Given the description of an element on the screen output the (x, y) to click on. 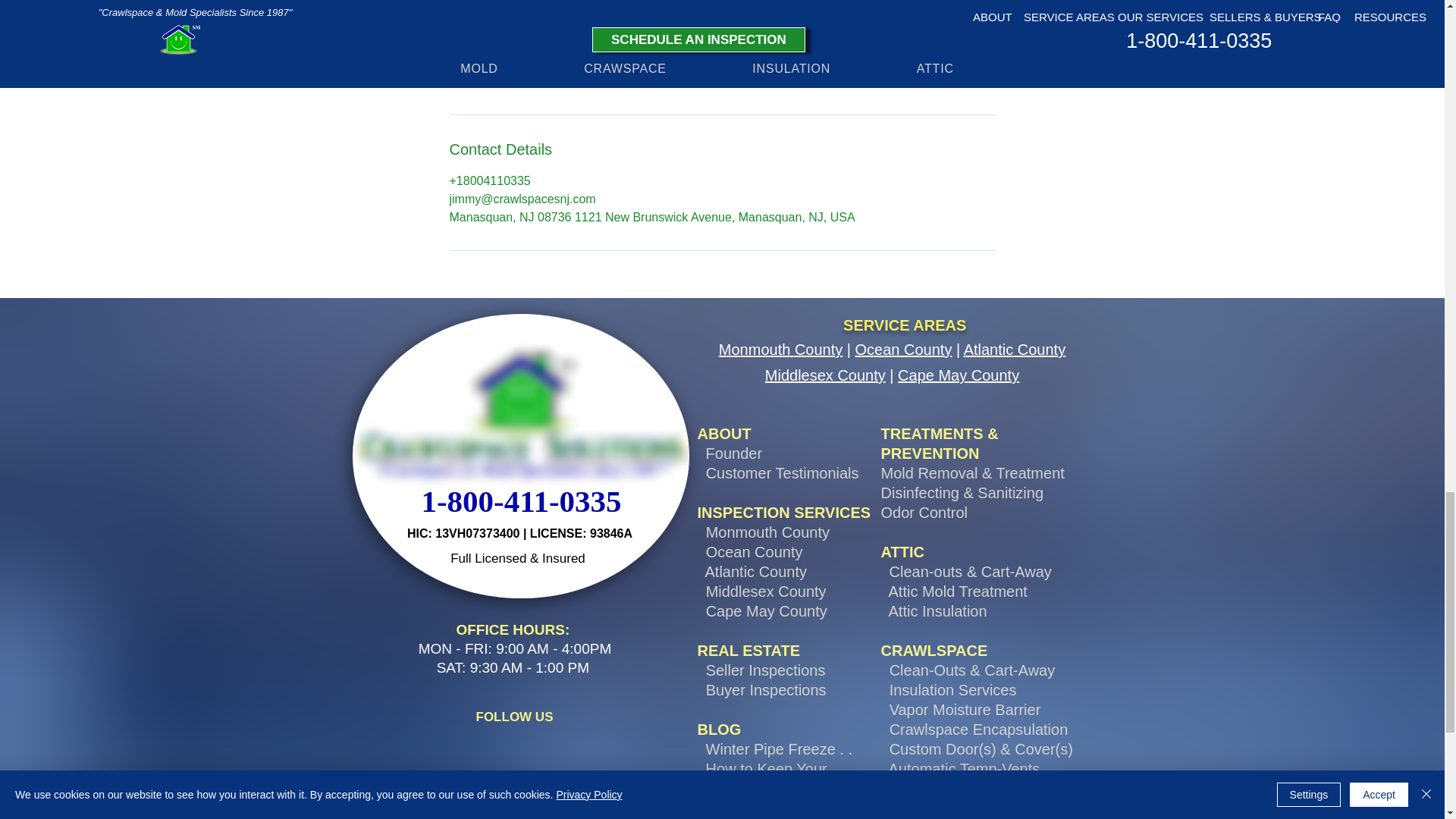
CrawlspaceSolutionsNJ.com Logo SM (520, 413)
